Given the description of an element on the screen output the (x, y) to click on. 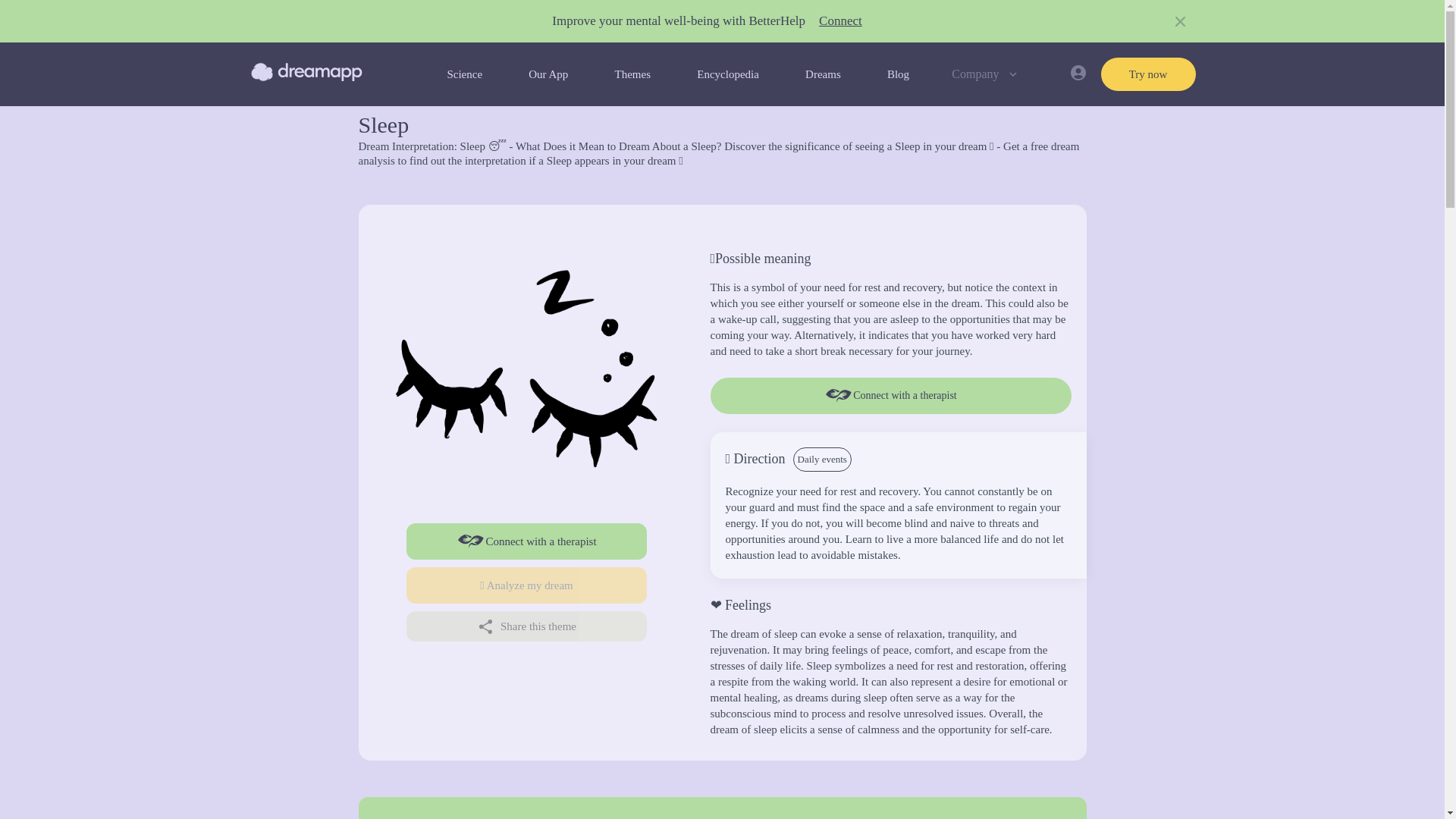
Encyclopedia (727, 74)
Improve your mental well-being with BetterHelp (678, 21)
Share this theme (526, 625)
Themes (632, 74)
Connect with a therapist (526, 541)
Blog (897, 74)
Company (986, 73)
Try now (1147, 73)
Dreams (823, 74)
Science (464, 74)
Our App (548, 74)
Connect (839, 21)
